Given the description of an element on the screen output the (x, y) to click on. 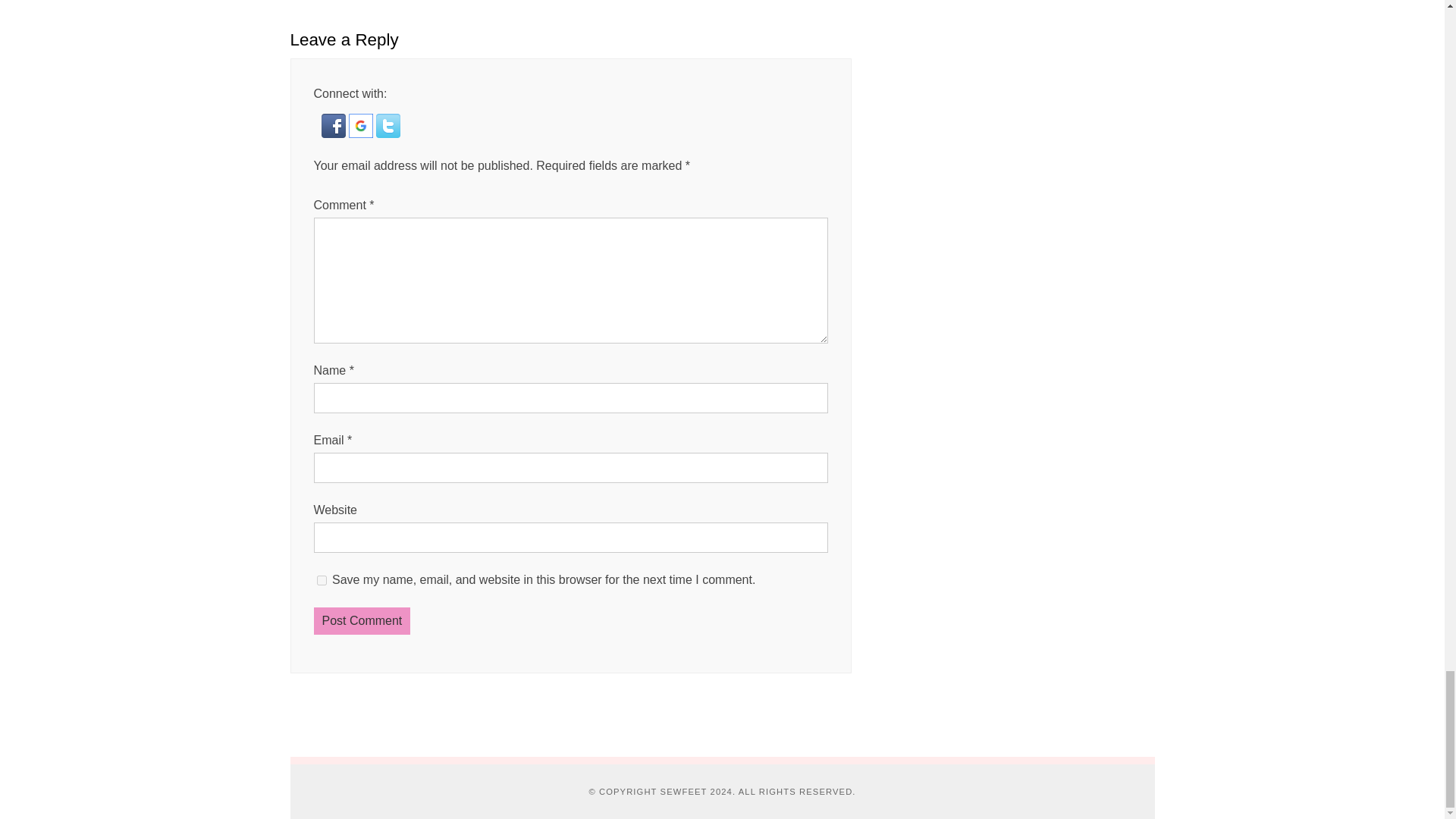
yes (321, 580)
Connect with Twitter (387, 133)
Post Comment (362, 620)
Connect with Facebook (335, 133)
Connect with Google (362, 133)
